Given the description of an element on the screen output the (x, y) to click on. 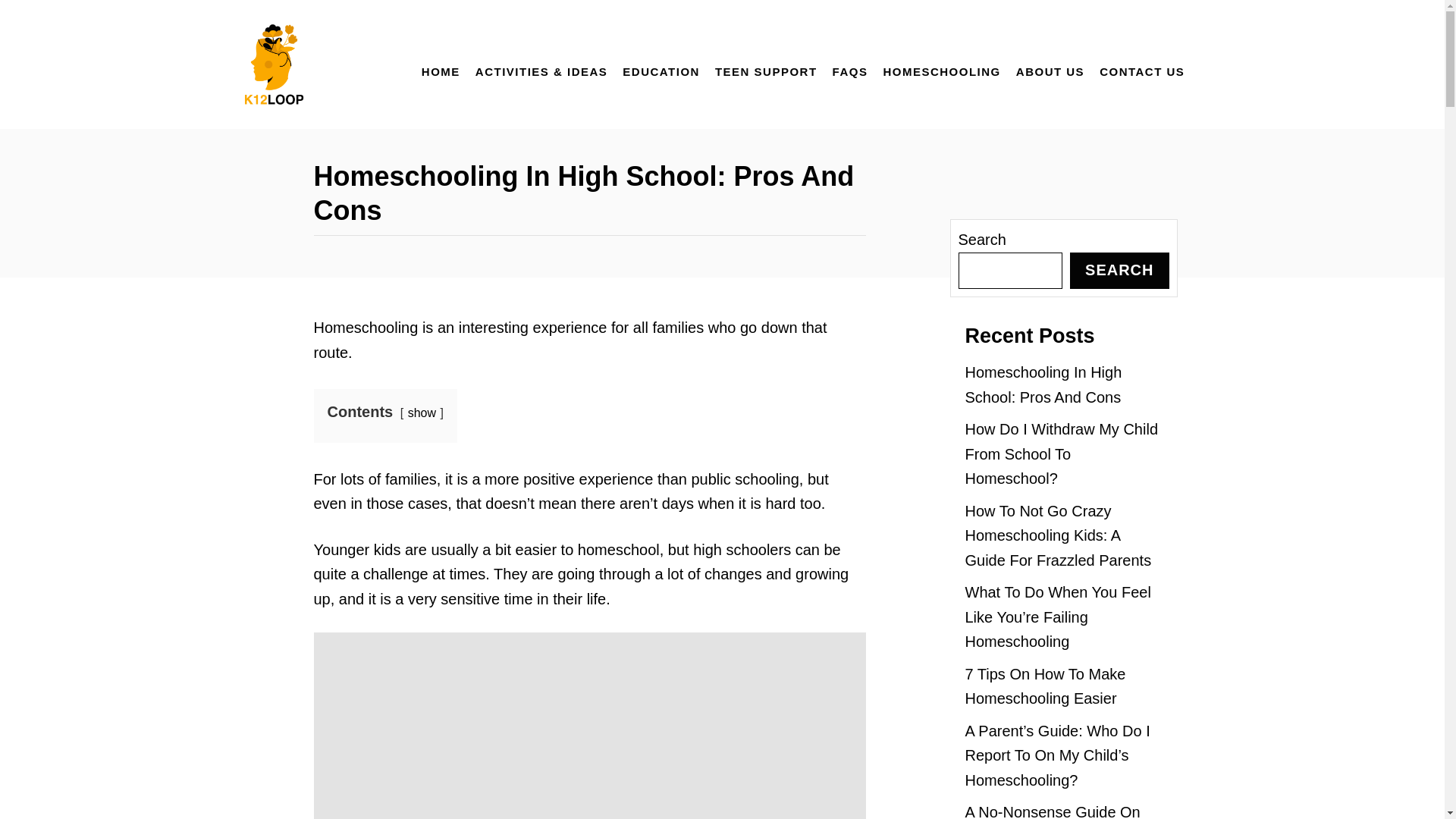
EDUCATION (653, 64)
show (421, 412)
FAQS (841, 64)
CONTACT US (1134, 64)
HOME (433, 64)
HOMESCHOOLING (933, 64)
TEEN SUPPORT (758, 64)
ABOUT US (1042, 64)
